Given the description of an element on the screen output the (x, y) to click on. 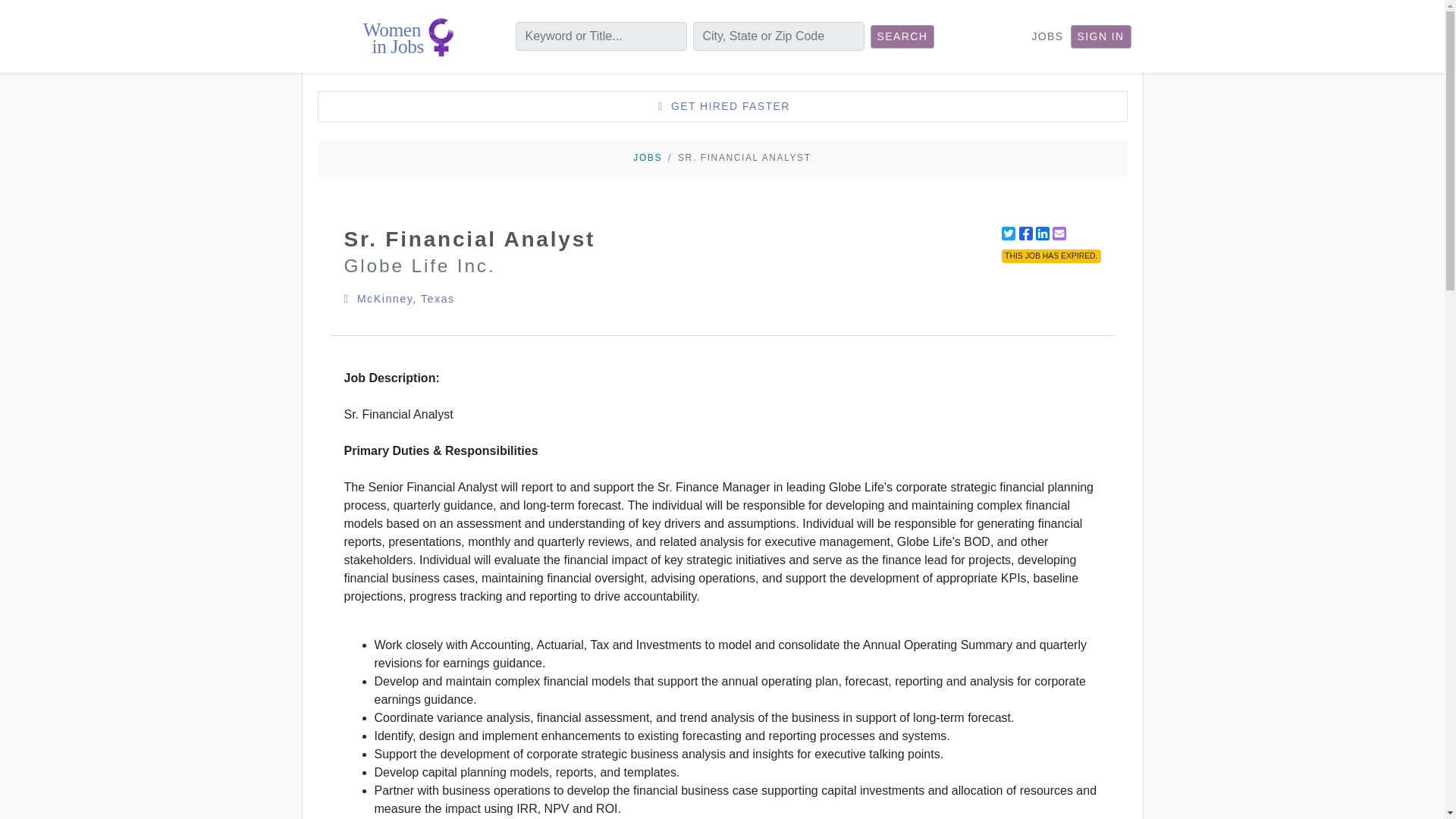
McKinney, Texas (405, 298)
JOBS (647, 157)
